Given the description of an element on the screen output the (x, y) to click on. 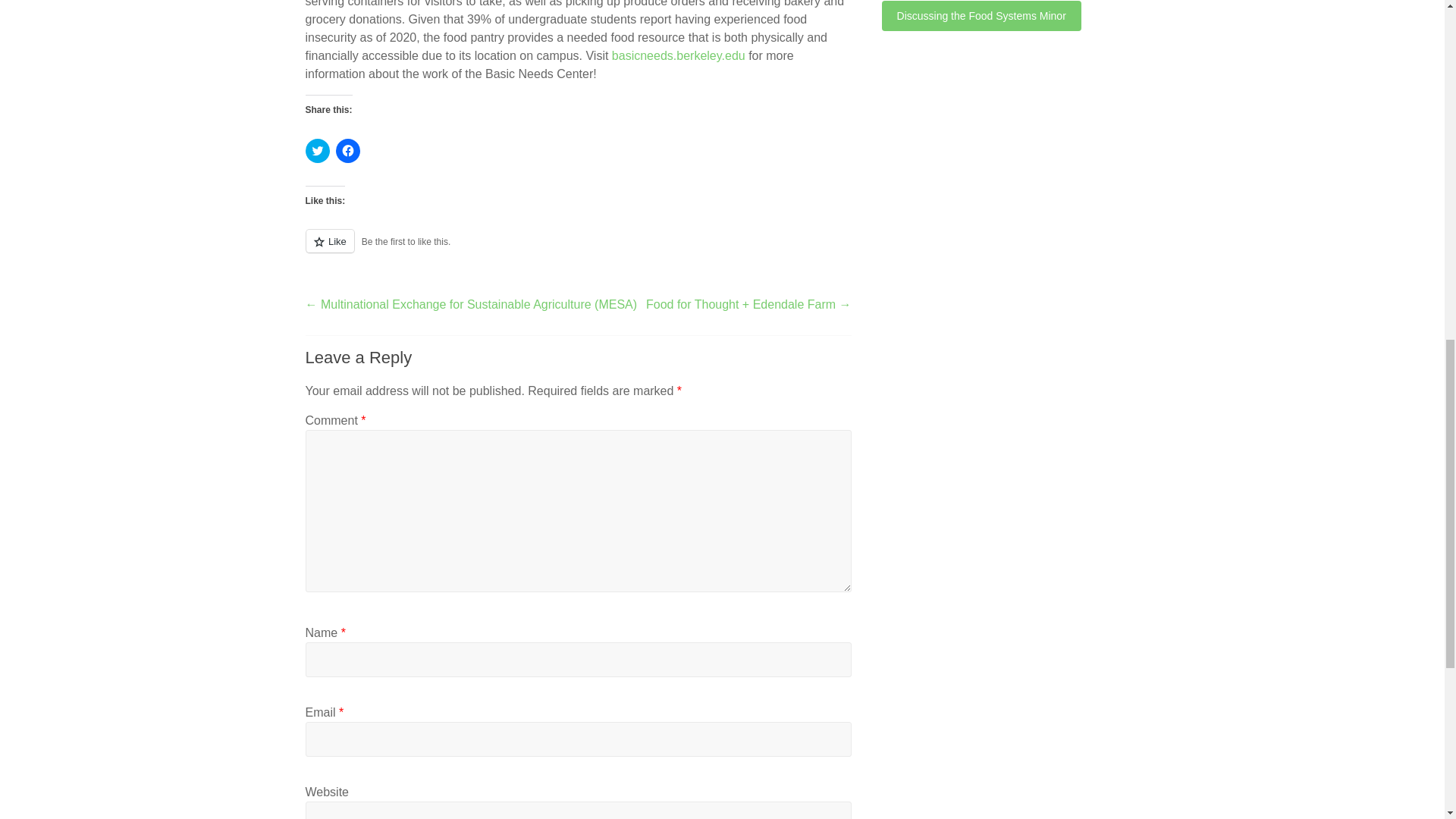
Like or Reblog (577, 250)
Click to share on Facebook (346, 150)
basicneeds.berkeley.edu (678, 55)
Click to share on Twitter (316, 150)
